Given the description of an element on the screen output the (x, y) to click on. 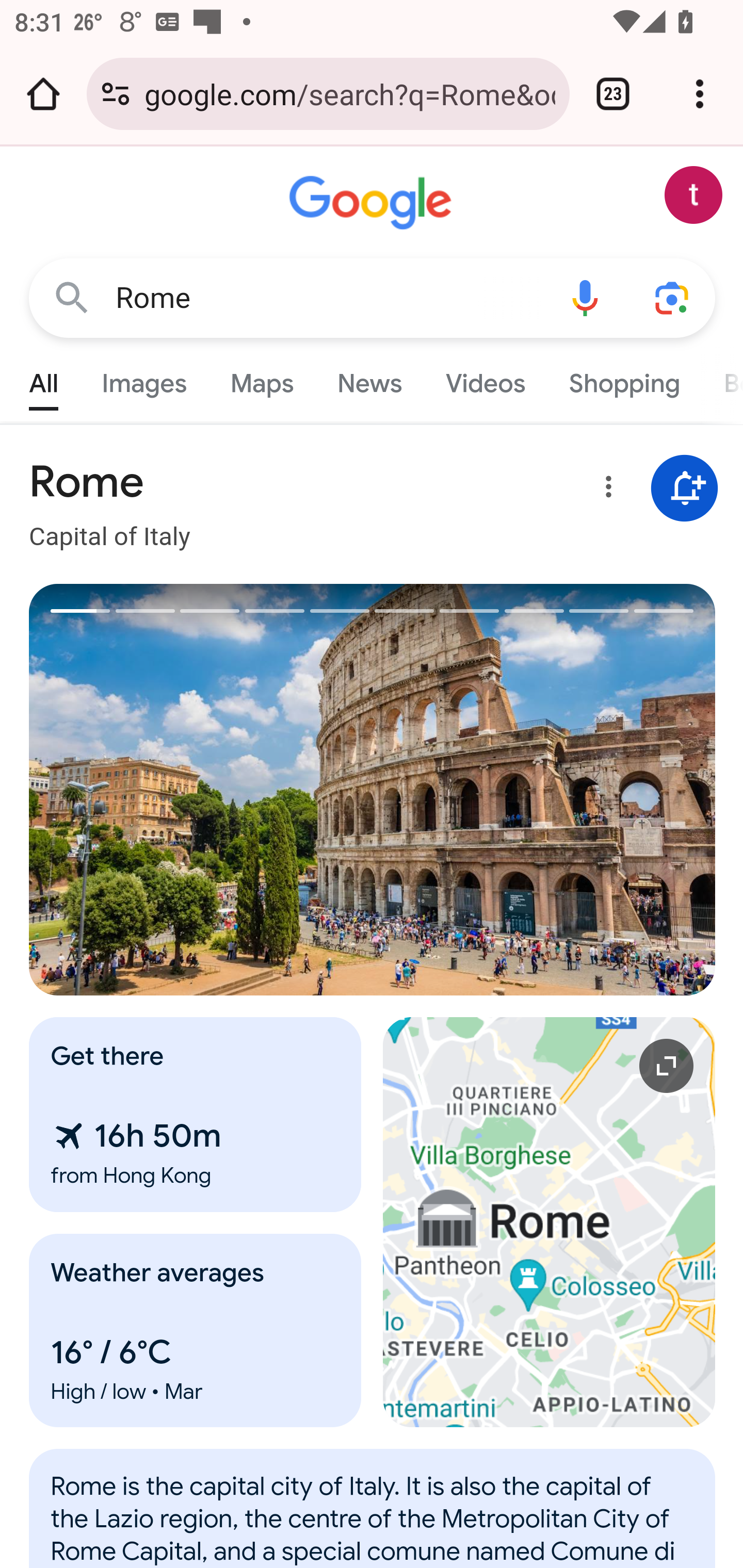
Open the home page (43, 93)
Connection is secure (115, 93)
Switch or close tabs (612, 93)
Customize and control Google Chrome (699, 93)
Google (372, 203)
Google Search (71, 296)
Search using your camera or photos (672, 296)
Rome (328, 297)
Images (144, 378)
Maps (261, 378)
News (369, 378)
Videos (485, 378)
Shopping (623, 378)
Get notifications about Rome (684, 489)
More options (605, 489)
Expand map (549, 1222)
Weather averages 16° / 6°C High / low • Mar (195, 1330)
Rome (372, 1518)
